Given the description of an element on the screen output the (x, y) to click on. 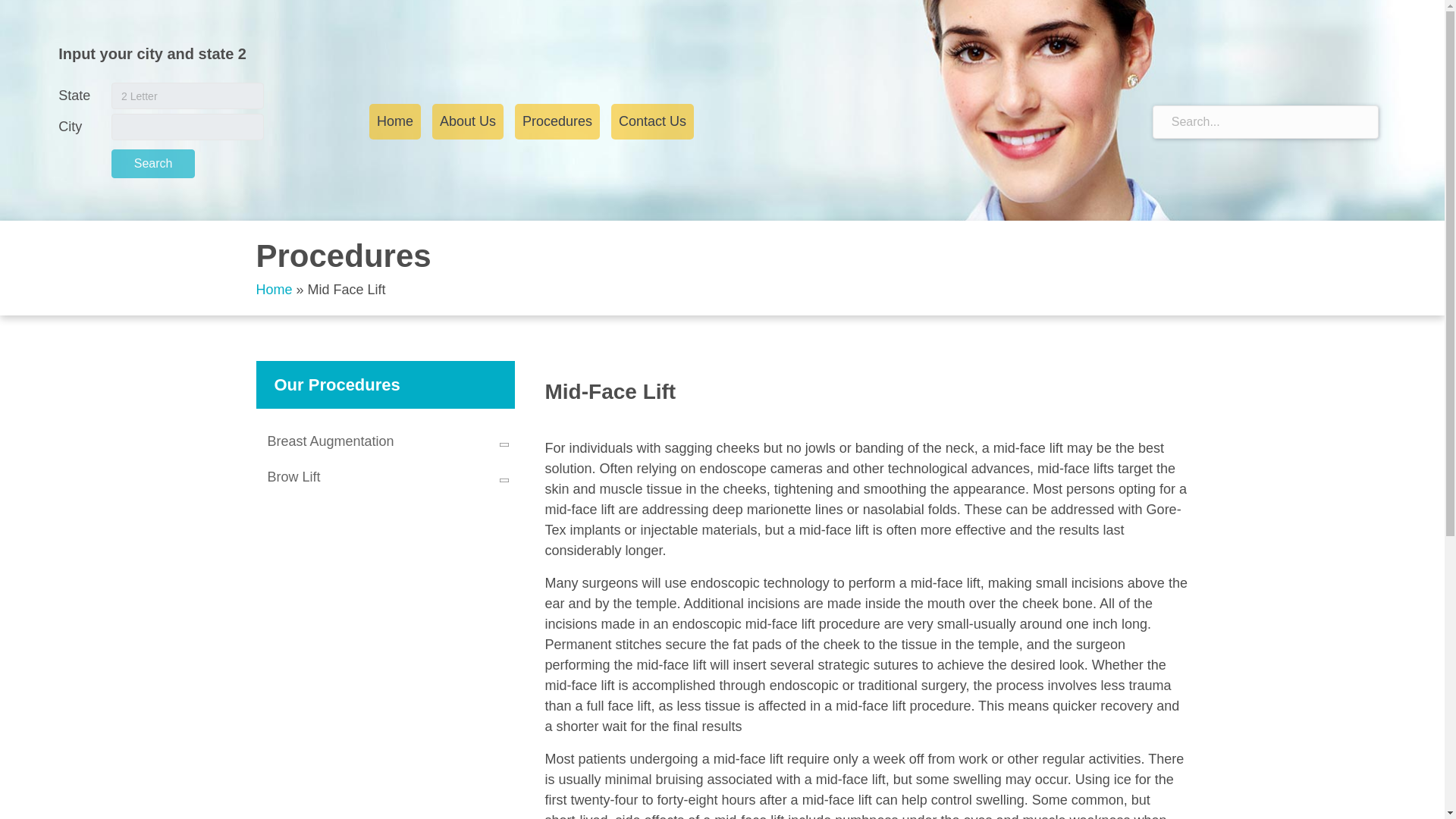
Contact Us (652, 121)
Breast Augmentation (385, 441)
Search (153, 163)
Procedures (557, 121)
Home (394, 121)
Home (274, 290)
About Us (467, 121)
